Given the description of an element on the screen output the (x, y) to click on. 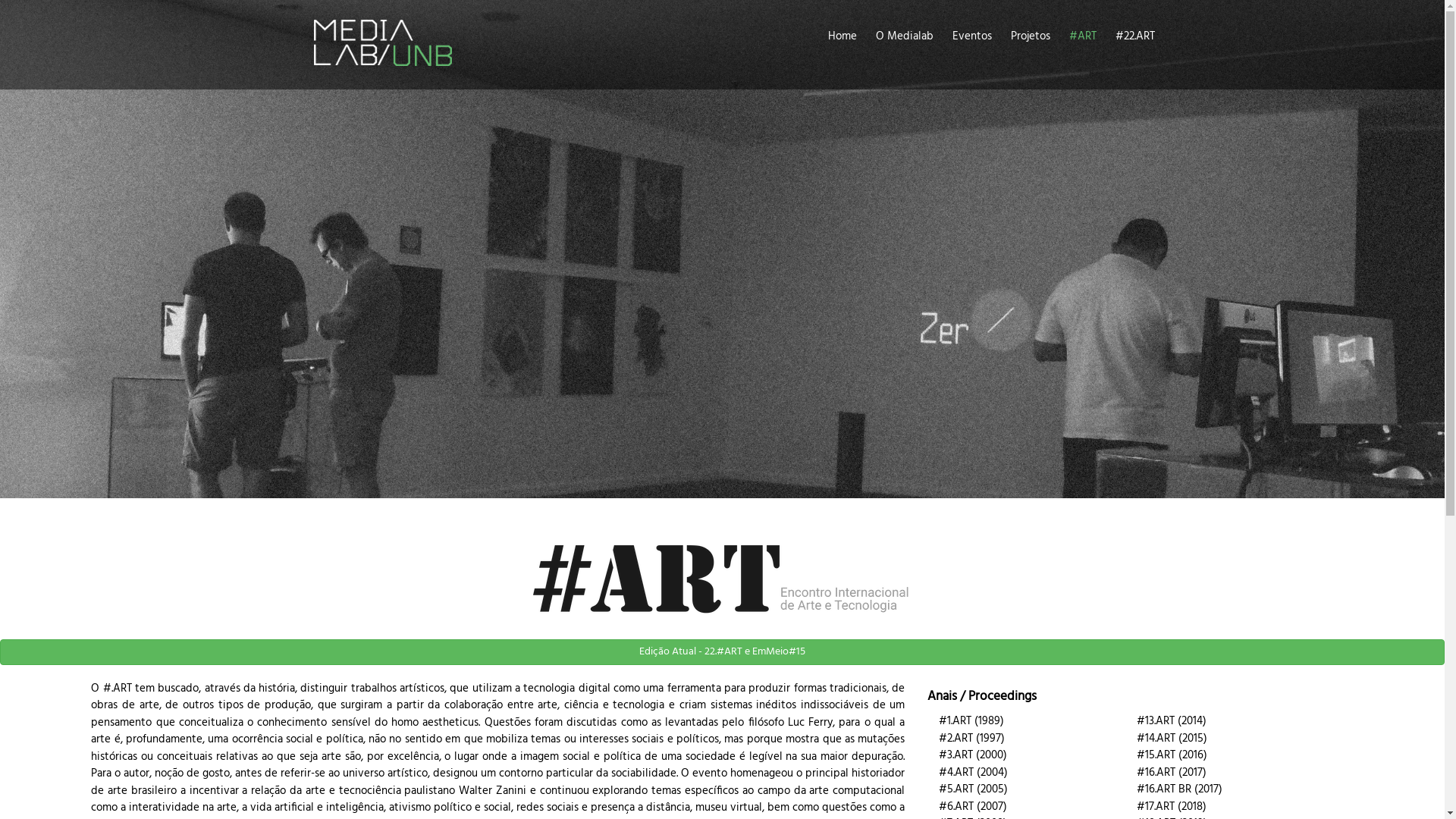
#6.ART (2007) Element type: text (972, 806)
#14.ART (2015) Element type: text (1171, 738)
O Medialab Element type: text (903, 36)
#4.ART (2004) Element type: text (972, 772)
#13.ART (2014) Element type: text (1171, 721)
#15.ART (2016) Element type: text (1171, 755)
#1.ART (1989) Element type: text (971, 721)
#3.ART (2000) Element type: text (972, 755)
#16.ART (2017) Element type: text (1171, 772)
Media Lab/ UNB Element type: hover (382, 48)
Projetos Element type: text (1029, 36)
#17.ART (2018) Element type: text (1171, 806)
#22.ART Element type: text (1134, 36)
Eventos Element type: text (971, 36)
#16.ART BR (2017) Element type: text (1179, 789)
#5.ART (2005) Element type: text (972, 789)
#2.ART (1997) Element type: text (971, 738)
#ART Element type: text (1082, 36)
Home Element type: text (842, 36)
